Given the description of an element on the screen output the (x, y) to click on. 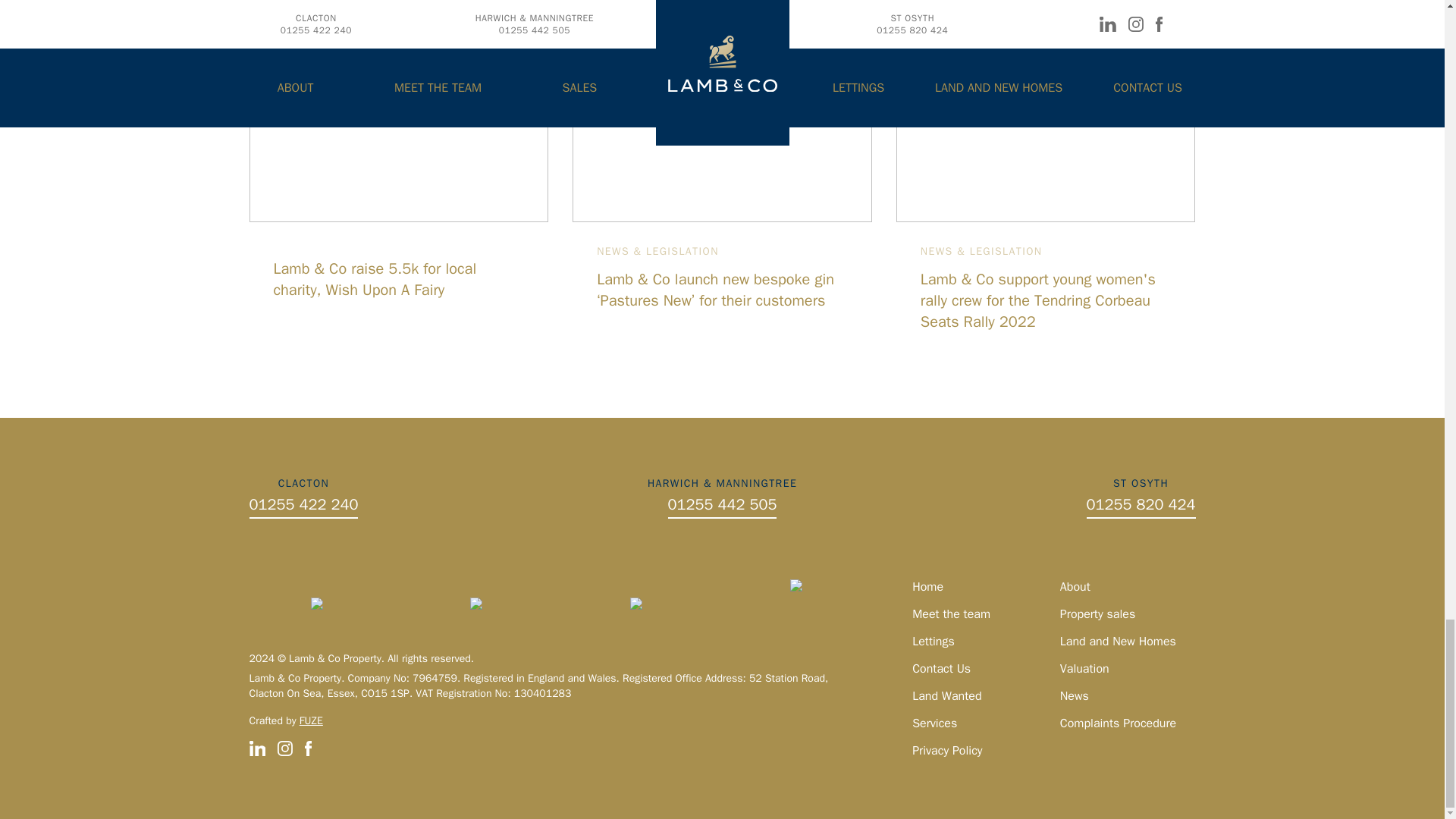
VIEW ALL (1139, 13)
